Given the description of an element on the screen output the (x, y) to click on. 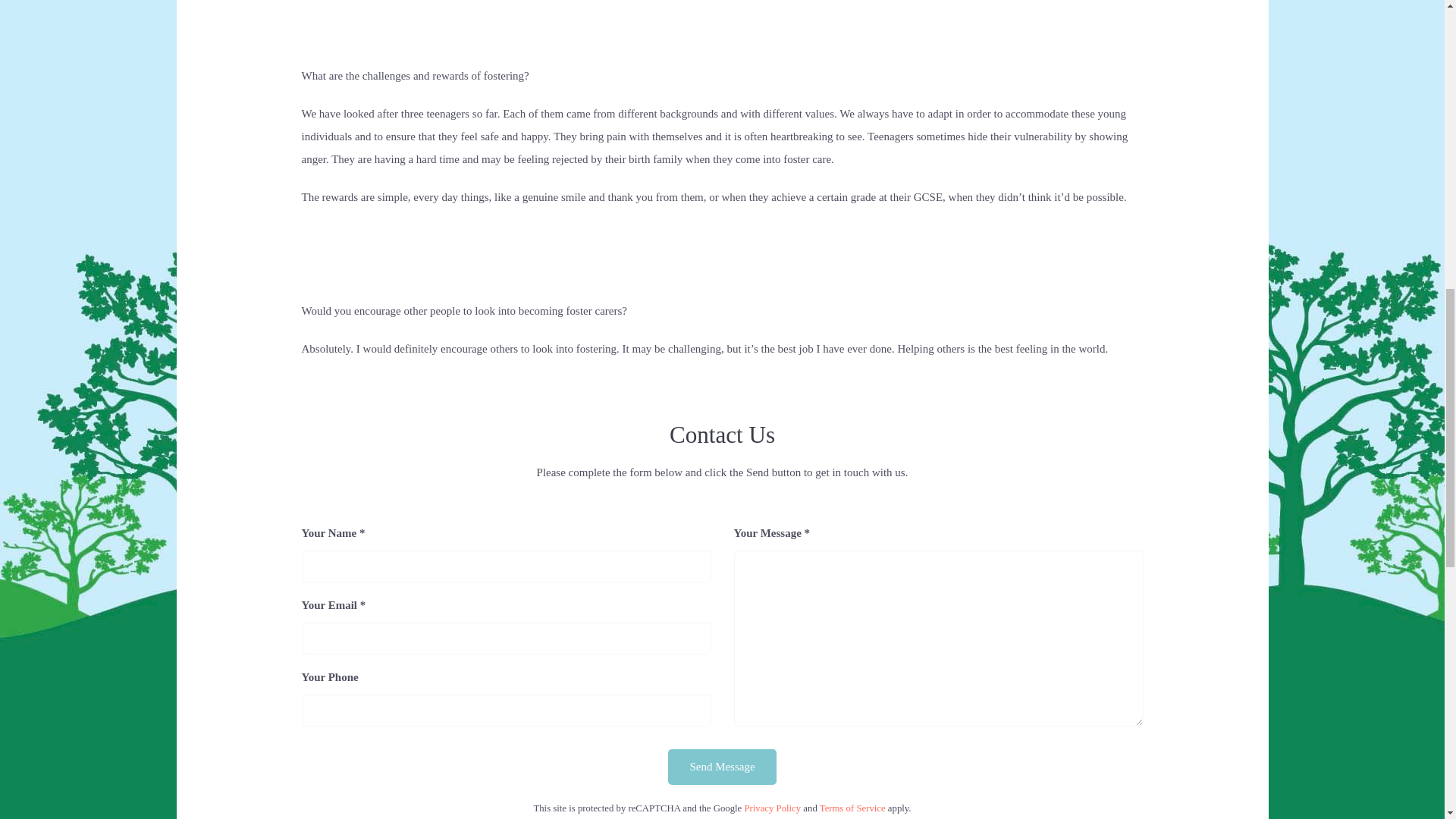
Send Message (722, 766)
Privacy Policy (772, 808)
Terms of Service (852, 808)
